Given the description of an element on the screen output the (x, y) to click on. 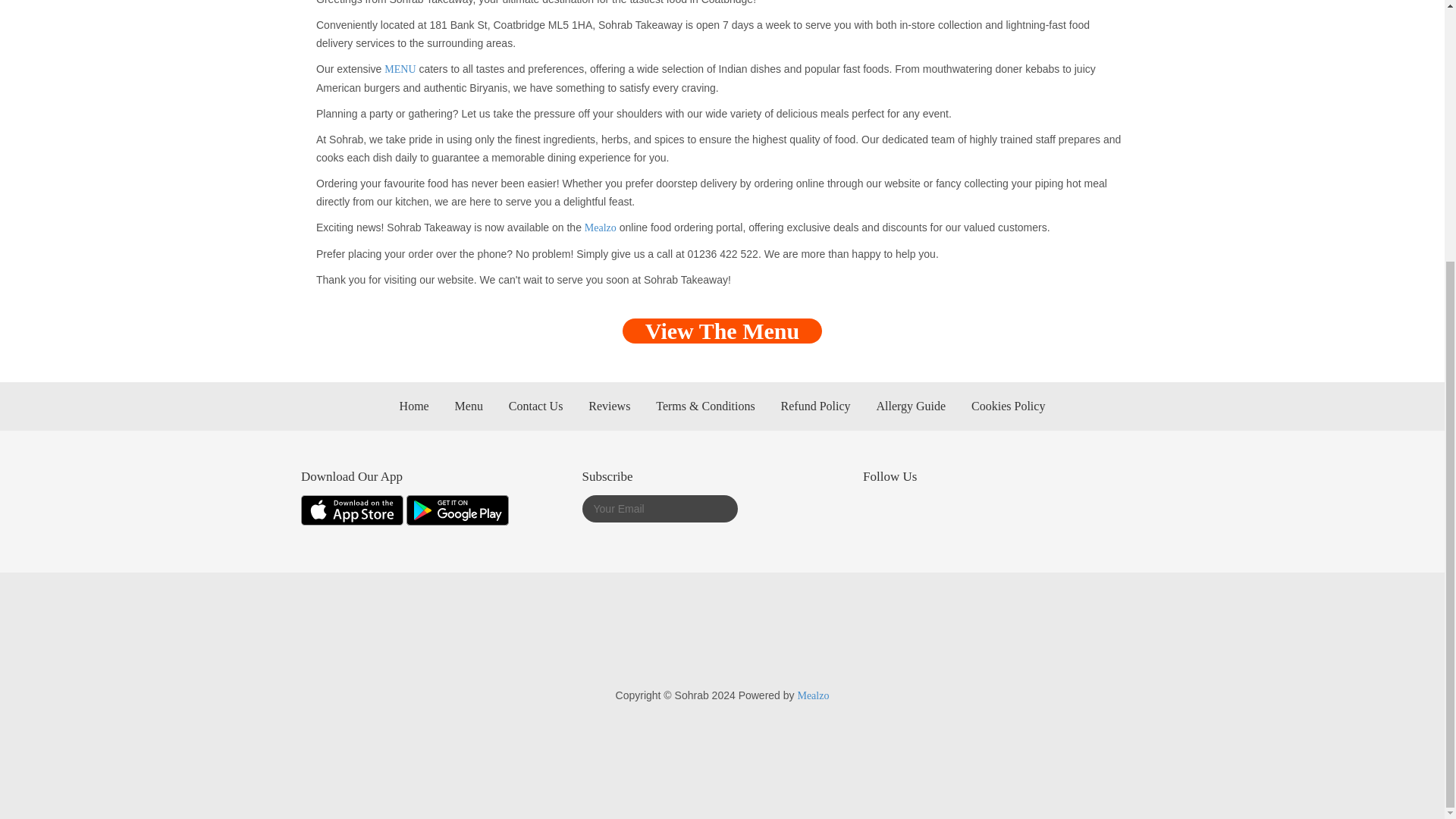
GooglePay (600, 642)
Mealzo (600, 227)
Menu (468, 405)
Mealzo (812, 695)
Verified by Visa (825, 642)
Allergy Guide (910, 405)
Reviews (609, 405)
Follow us on instagram (875, 514)
Contact Us (535, 405)
Home (413, 405)
